Given the description of an element on the screen output the (x, y) to click on. 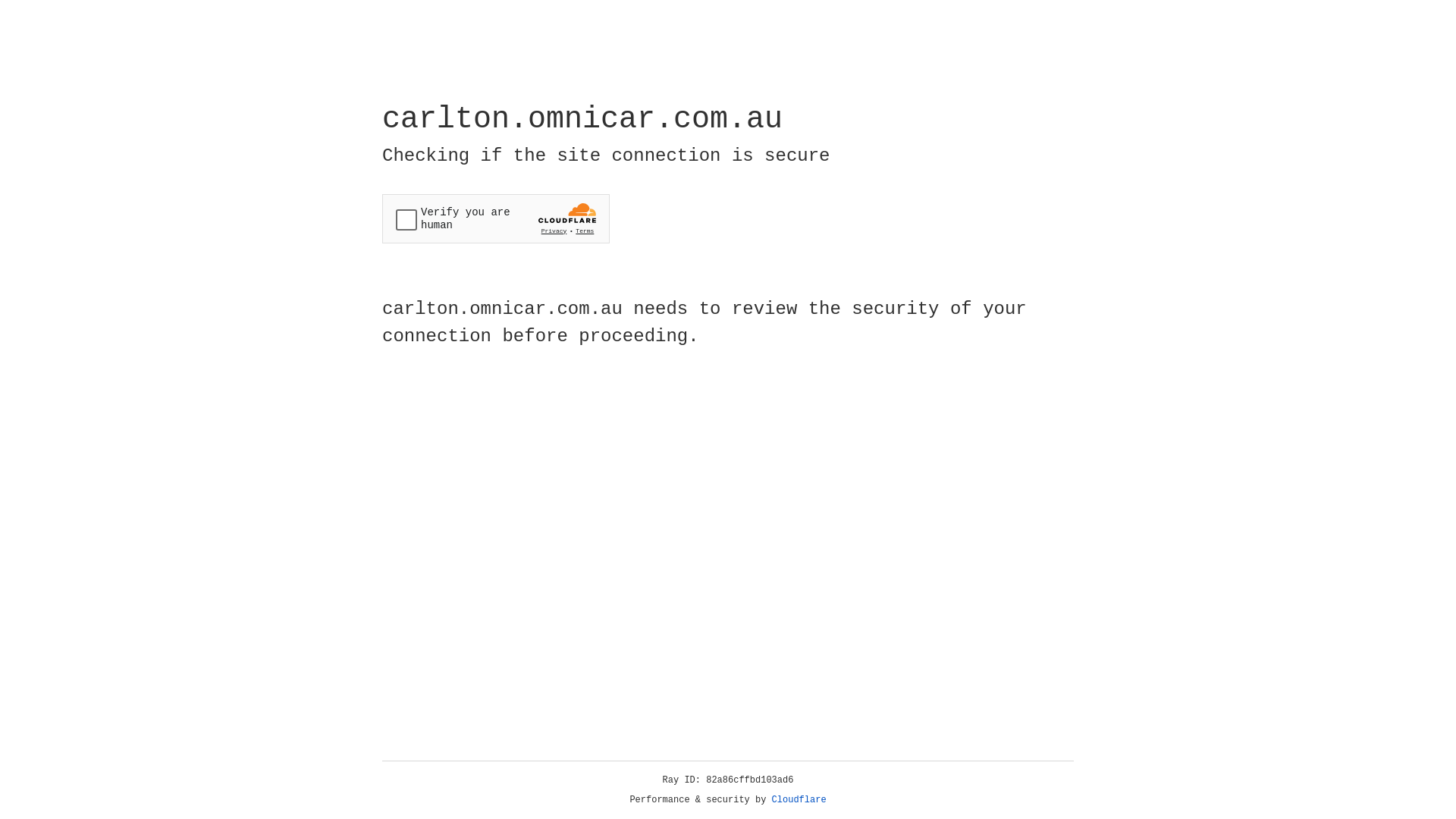
Cloudflare Element type: text (798, 799)
Widget containing a Cloudflare security challenge Element type: hover (495, 218)
